Given the description of an element on the screen output the (x, y) to click on. 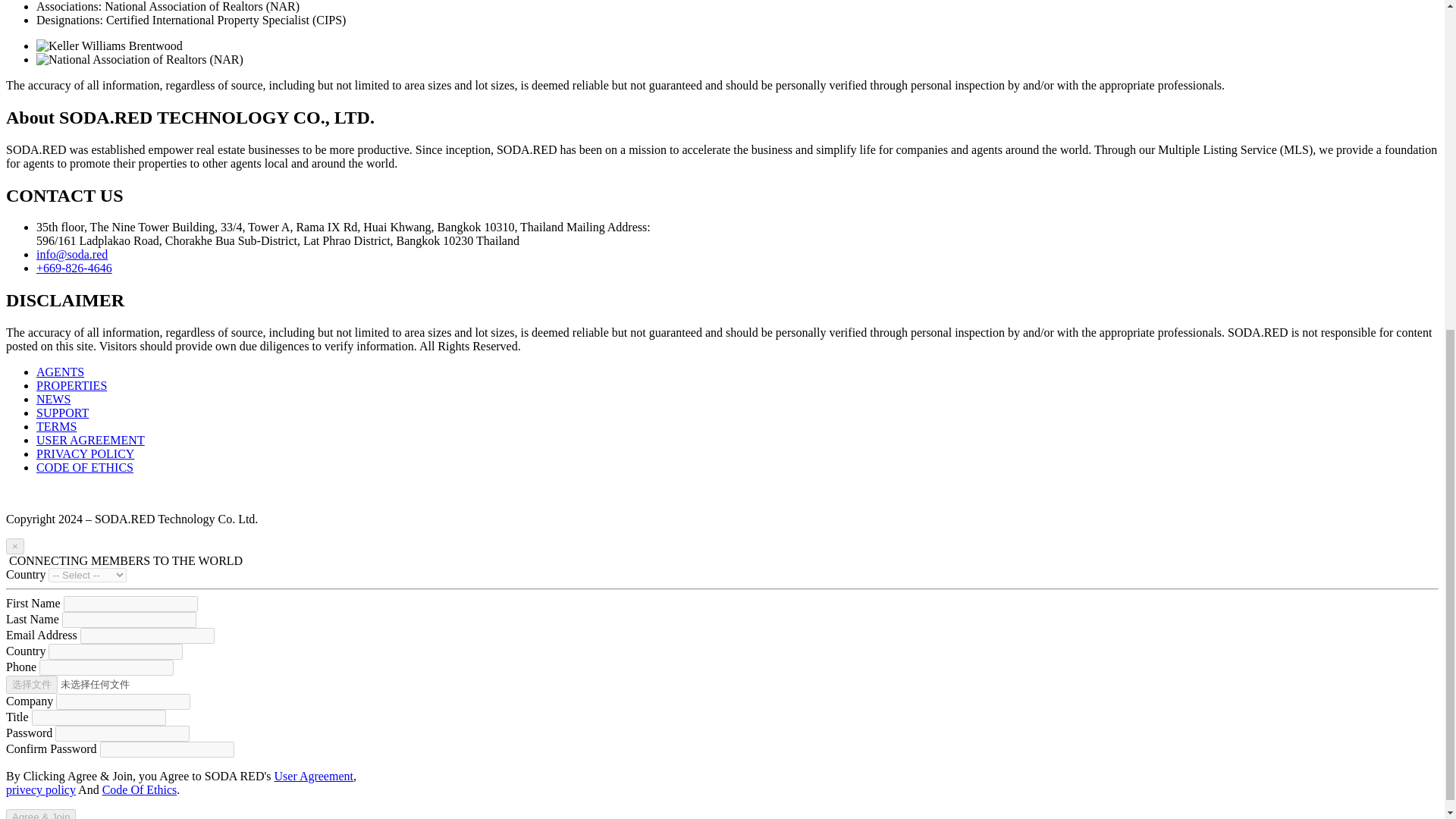
CODE OF ETHICS (84, 467)
PROPERTIES (71, 385)
USER AGREEMENT (90, 440)
PRIVACY POLICY (84, 453)
NEWS (52, 399)
AGENTS (60, 371)
privecy policy (40, 789)
User Agreement (314, 775)
TERMS (56, 426)
SUPPORT (62, 412)
Code Of Ethics (139, 789)
